Given the description of an element on the screen output the (x, y) to click on. 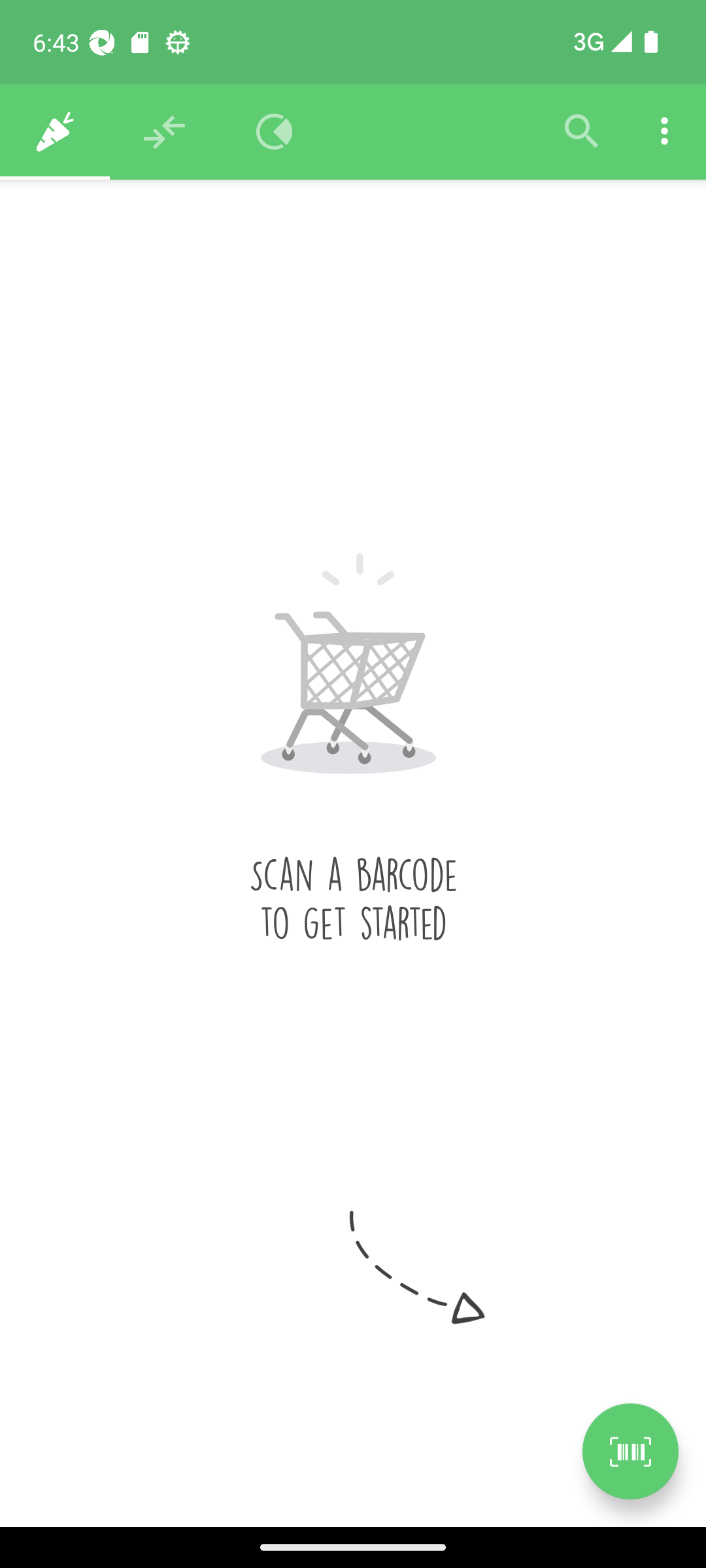
Recommendations (164, 131)
Overview (274, 131)
Filter (581, 131)
Settings (664, 131)
Scan a product (630, 1451)
